Given the description of an element on the screen output the (x, y) to click on. 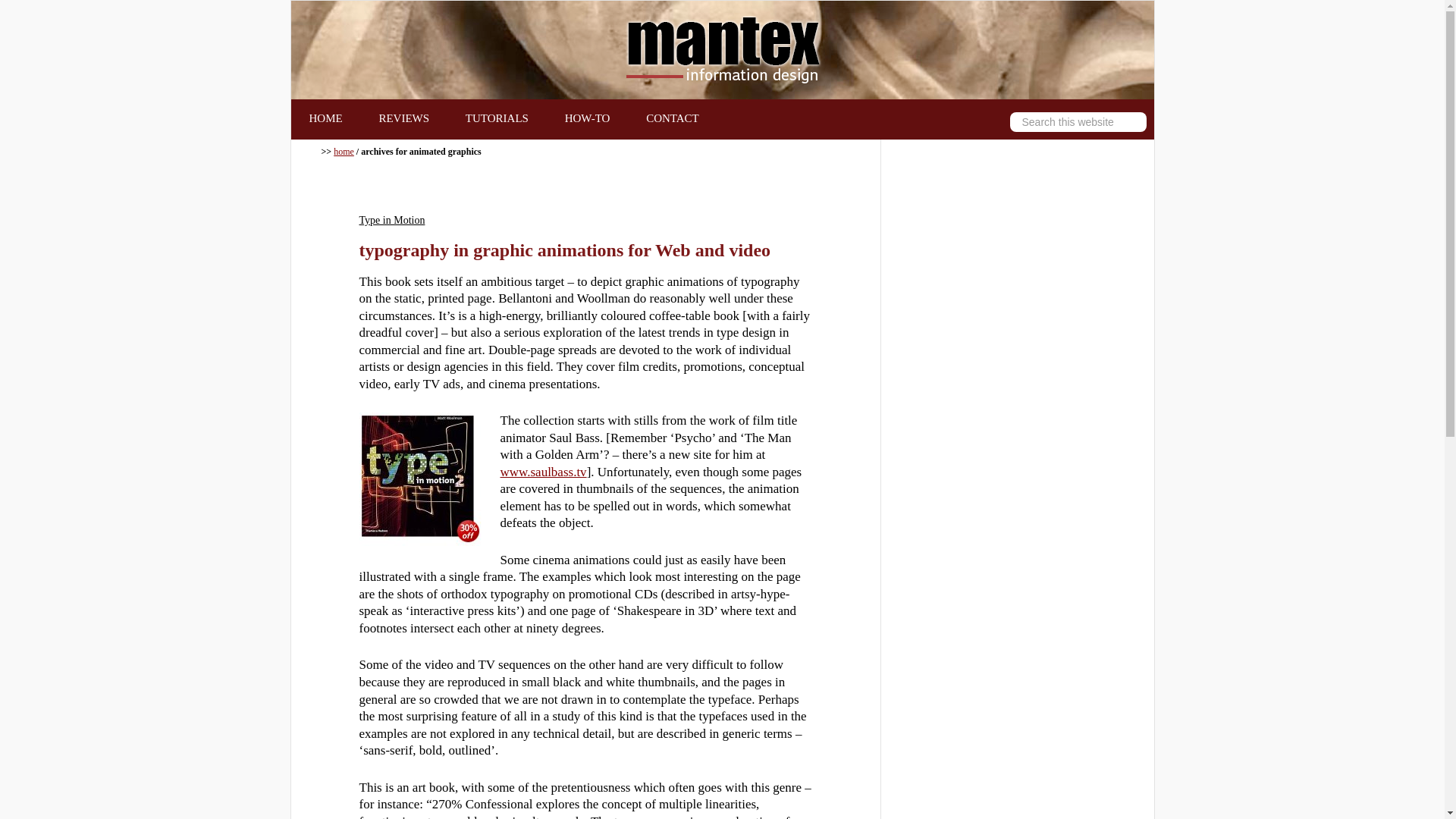
Type in Motion (392, 220)
MANTEX (722, 49)
home (343, 151)
CONTACT (672, 118)
www.saulbass.tv (543, 472)
REVIEWS (402, 118)
HOME (326, 118)
TUTORIALS (496, 118)
HOW-TO (587, 118)
Type in Motion (420, 479)
